Given the description of an element on the screen output the (x, y) to click on. 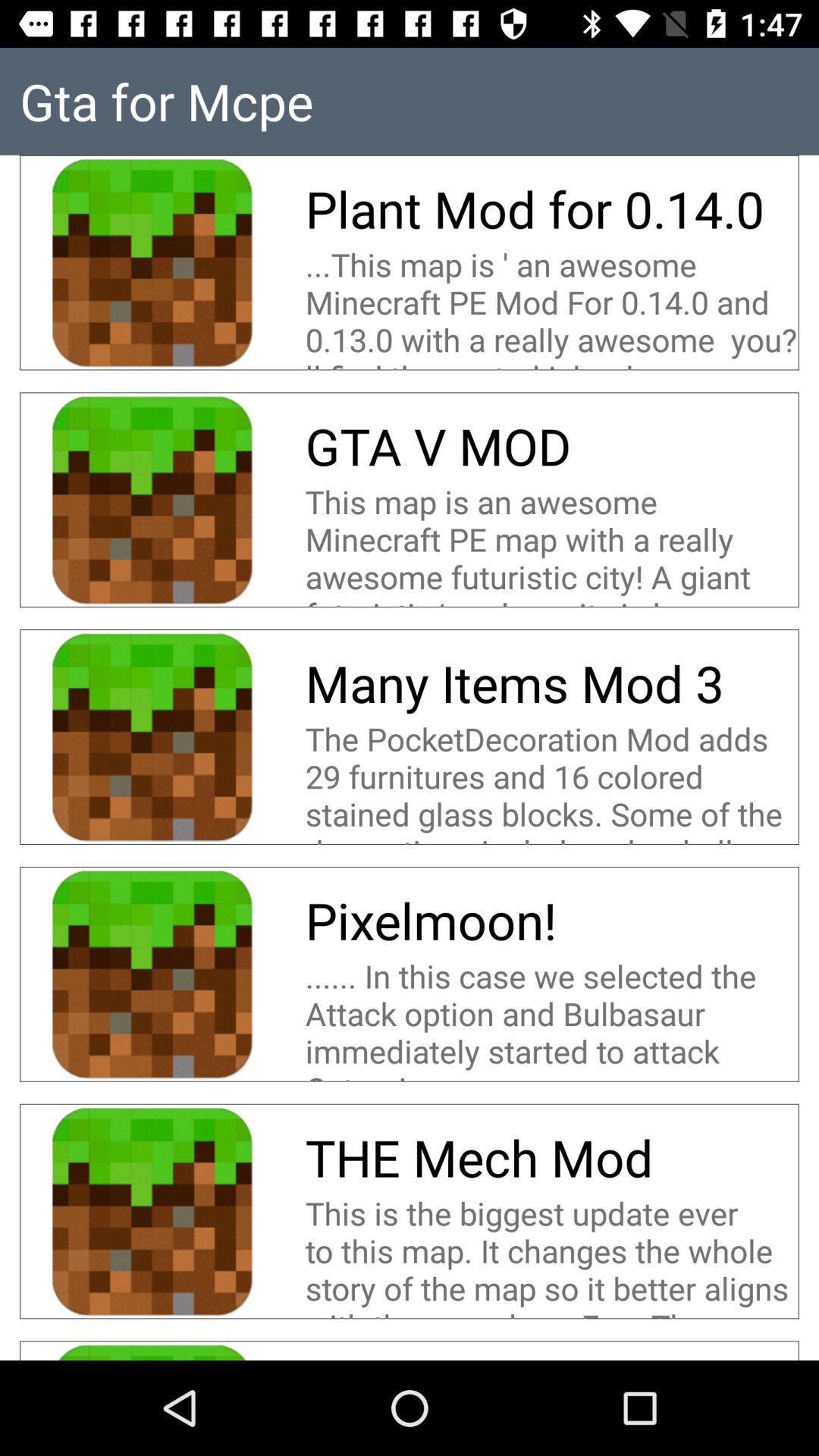
select item below many items mod icon (552, 780)
